Given the description of an element on the screen output the (x, y) to click on. 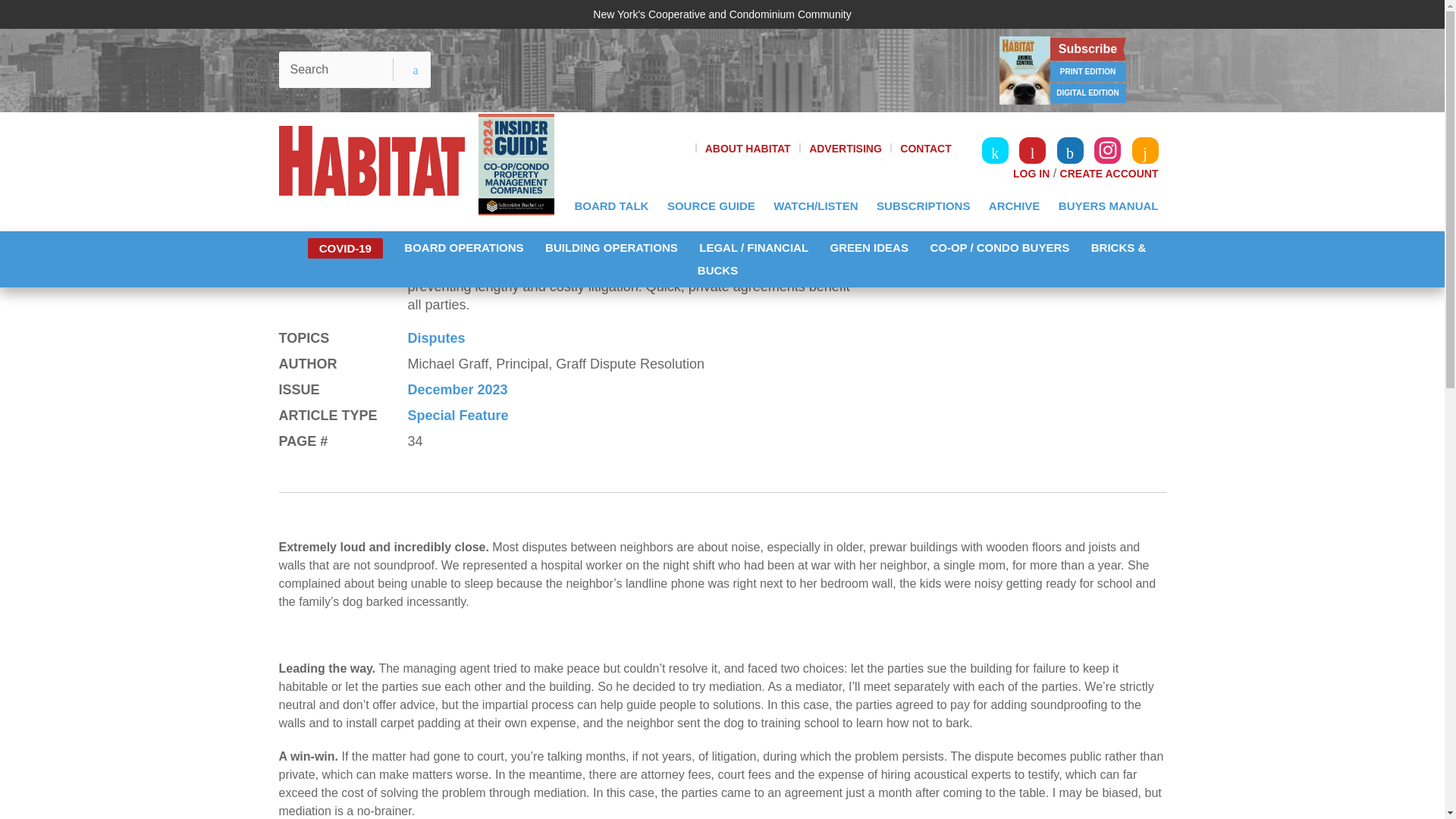
SOURCE GUIDE (710, 205)
Share by email (1045, 197)
3rd party ad content (714, 70)
Share on Twitter (1083, 197)
CREATE ACCOUNT (1108, 173)
CONTACT (924, 148)
SUBSCRIPTIONS (922, 205)
ADVERTISING (845, 148)
Share on Facebook (1100, 197)
Visit Instagram page (1107, 150)
DIGITAL EDITION (1087, 93)
ABOUT HABITAT (747, 148)
LOG IN (1031, 173)
BOARD TALK (611, 205)
PRINT EDITION (1087, 71)
